Given the description of an element on the screen output the (x, y) to click on. 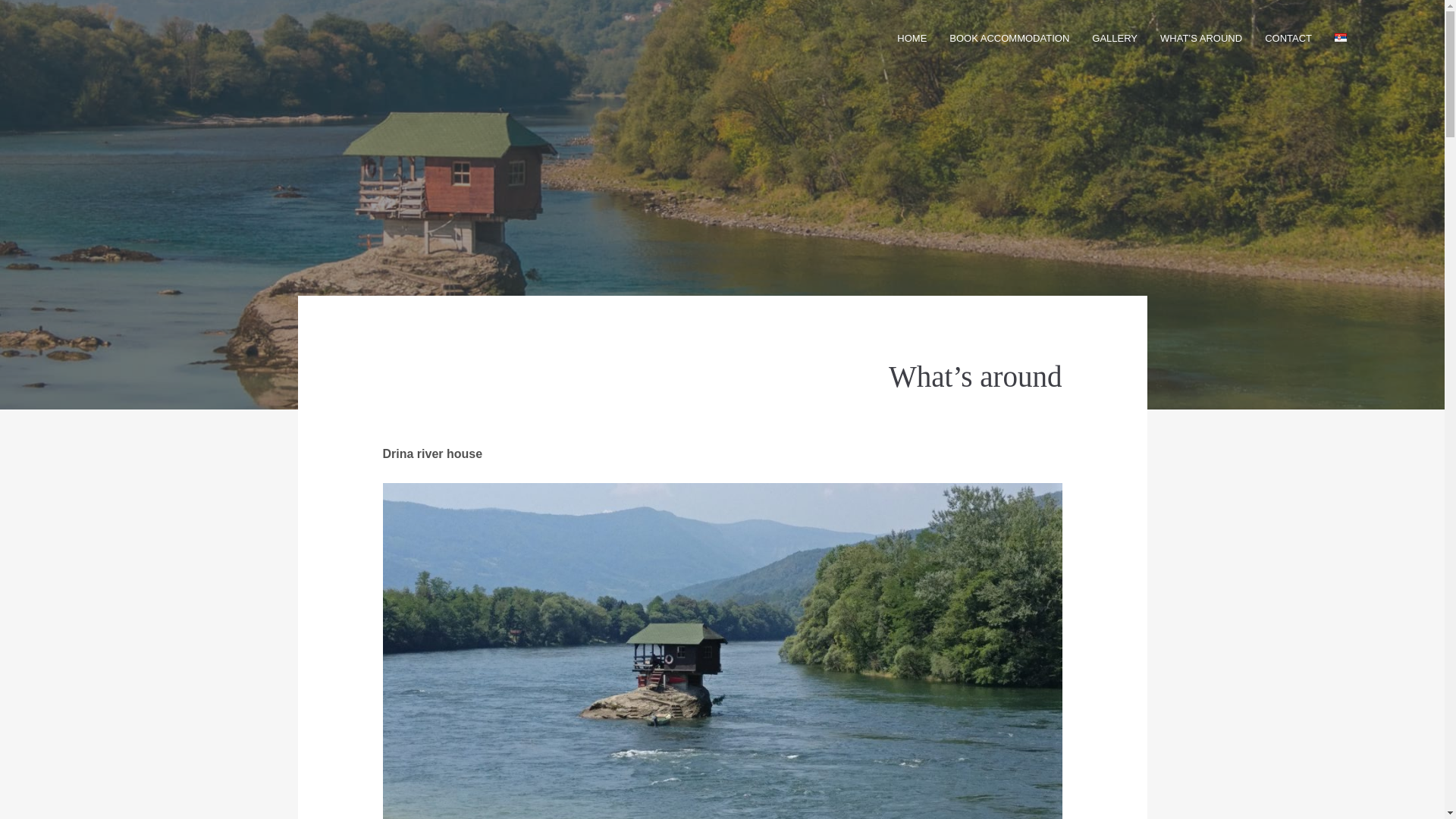
BOOK ACCOMMODATION (1008, 38)
Drina's Heart (129, 37)
GALLERY (1114, 38)
CONTACT (1288, 38)
